Given the description of an element on the screen output the (x, y) to click on. 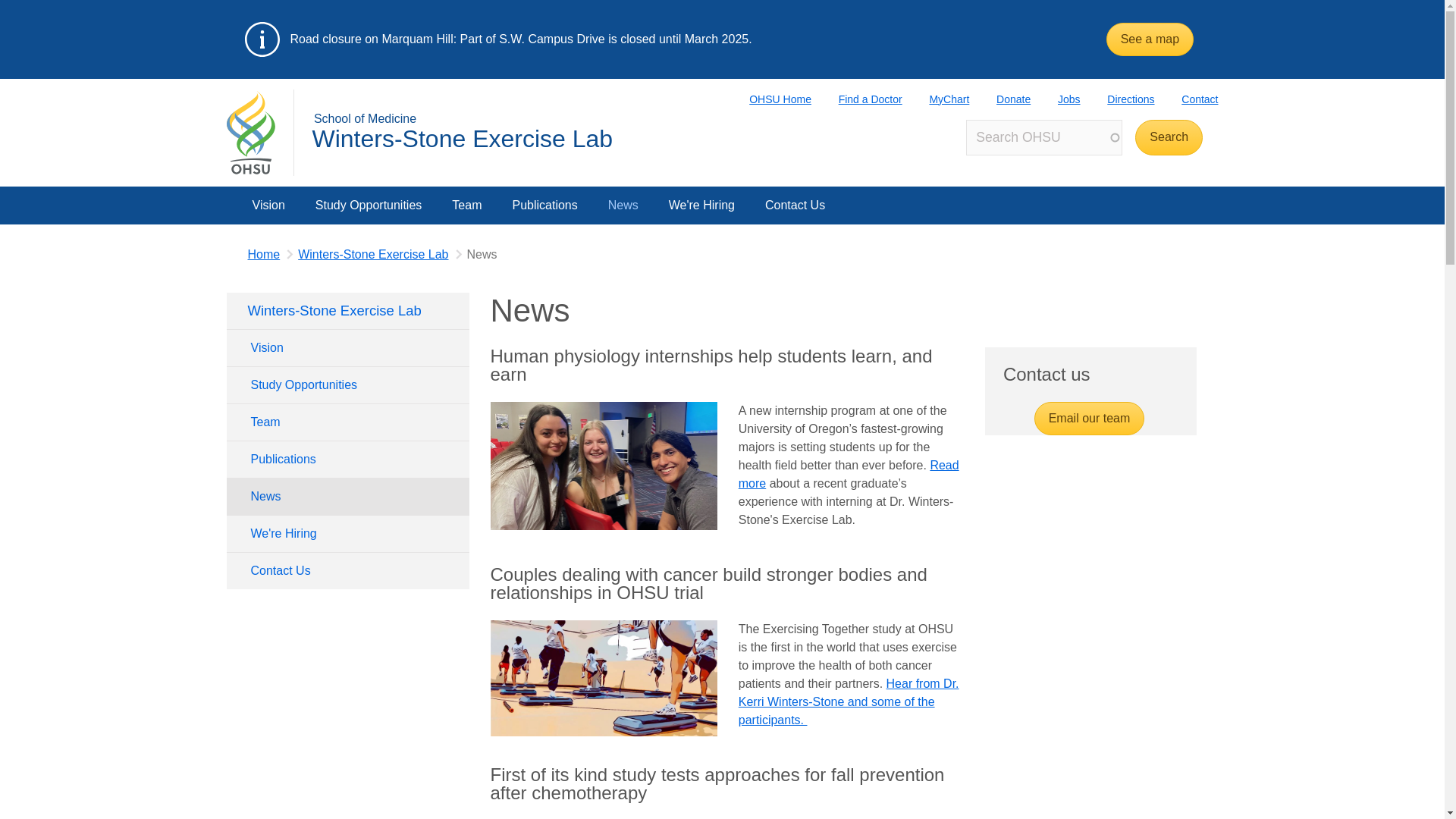
Find a Doctor (856, 99)
Contact the Winters-Stone Exercise Lab. (794, 205)
We're Hiring (346, 533)
Contact (1186, 99)
Directions (1117, 99)
MyChart (935, 99)
on (240, 191)
Team (466, 205)
OHSU Jobs (1055, 99)
Contact Us (794, 205)
Publications (346, 459)
Publications (544, 205)
Find out what's happening in the lab.  (622, 205)
